Given the description of an element on the screen output the (x, y) to click on. 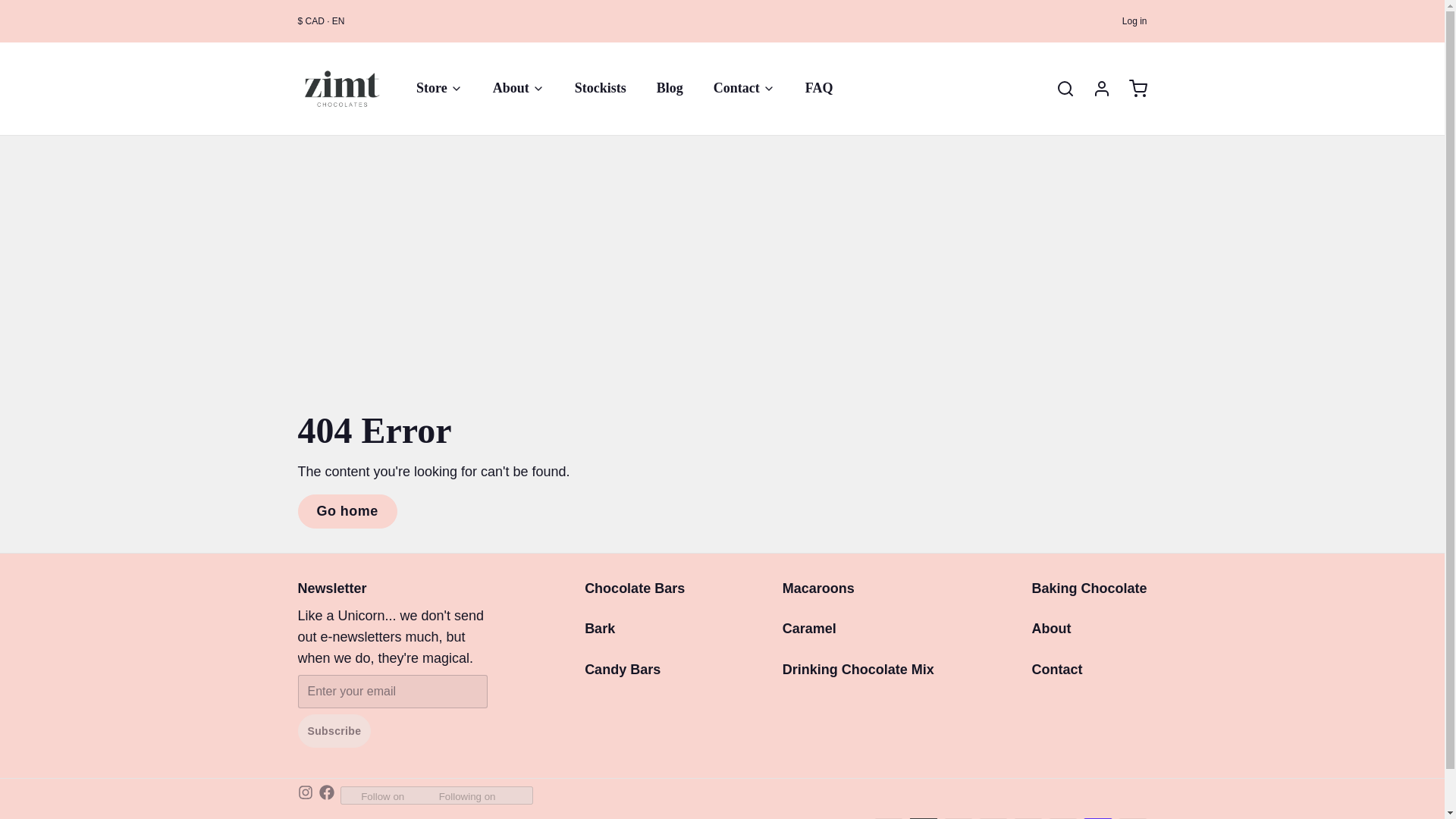
Store (439, 88)
Contact (744, 88)
Stockists (600, 88)
Search (1058, 88)
Zimt Chocolates  (341, 88)
Cart (1131, 88)
 Log in (1094, 88)
About (518, 88)
Log in (1134, 21)
Blog (670, 88)
